Given the description of an element on the screen output the (x, y) to click on. 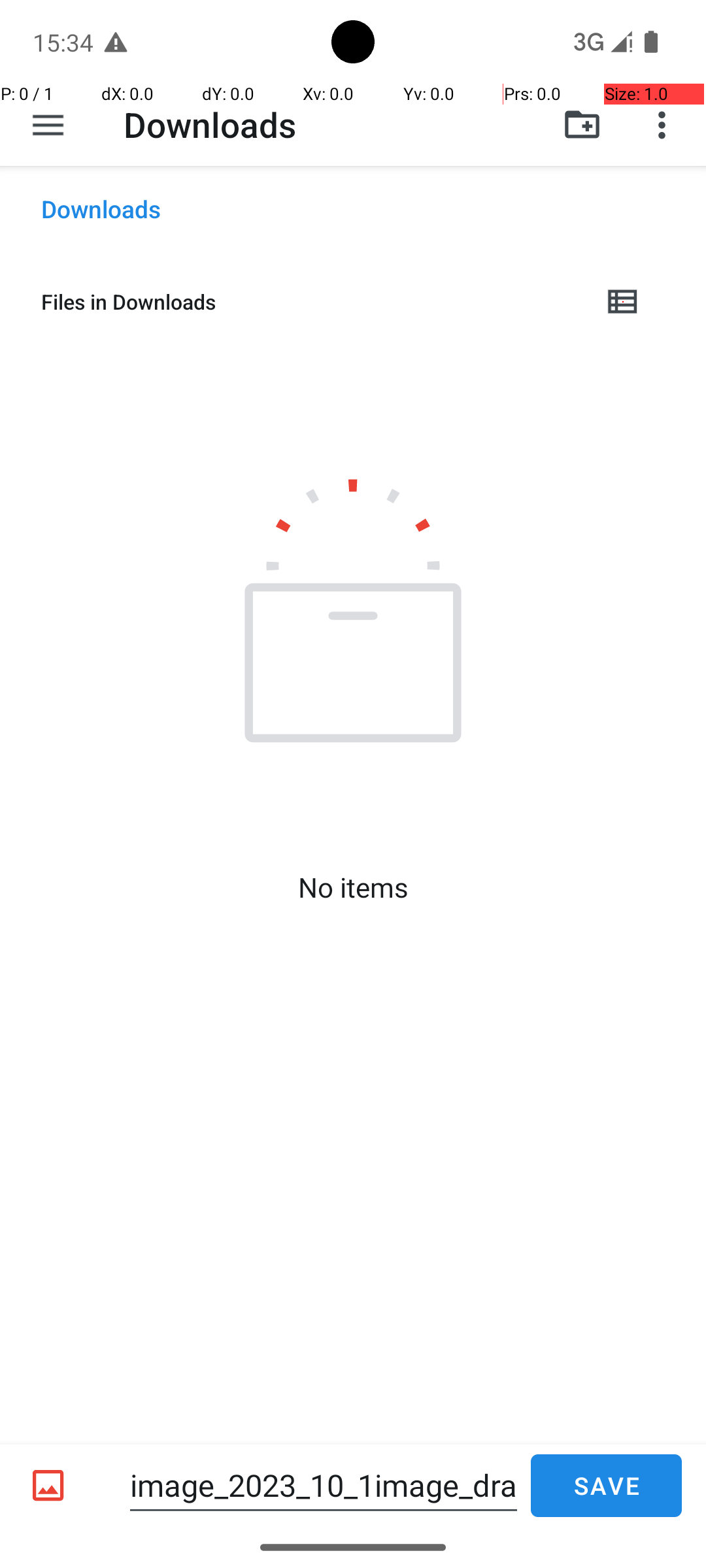
New folder Element type: android.widget.TextView (581, 124)
image_2023_10_1image_draw_2final_version_drawing_2023_10_01023_final_version5_15_34_07.png Element type: android.widget.EditText (323, 1485)
